Given the description of an element on the screen output the (x, y) to click on. 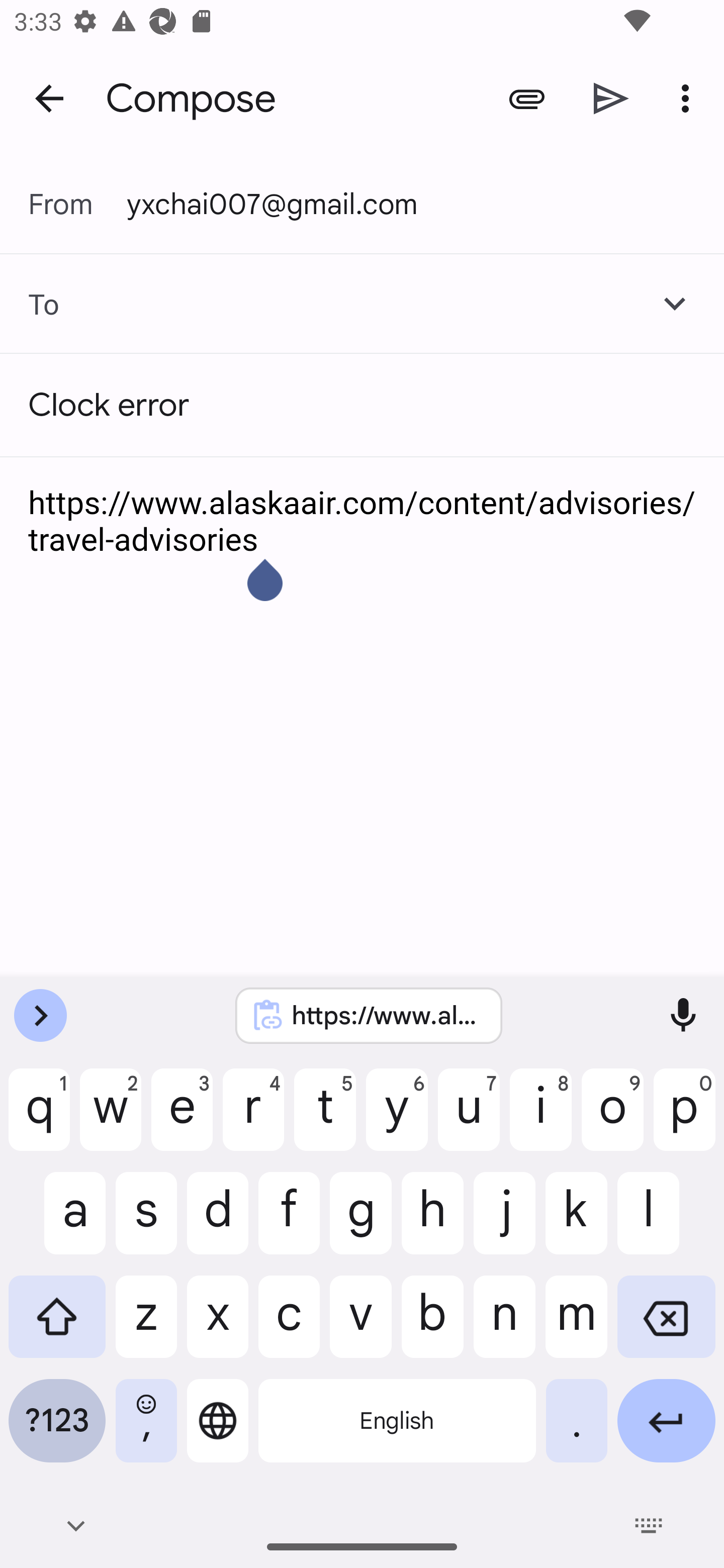
Navigate up (49, 97)
Attach file (526, 98)
Send (611, 98)
More options (688, 98)
From (77, 204)
Add Cc/Bcc (674, 303)
To (30, 303)
Clock error (361, 405)
